Given the description of an element on the screen output the (x, y) to click on. 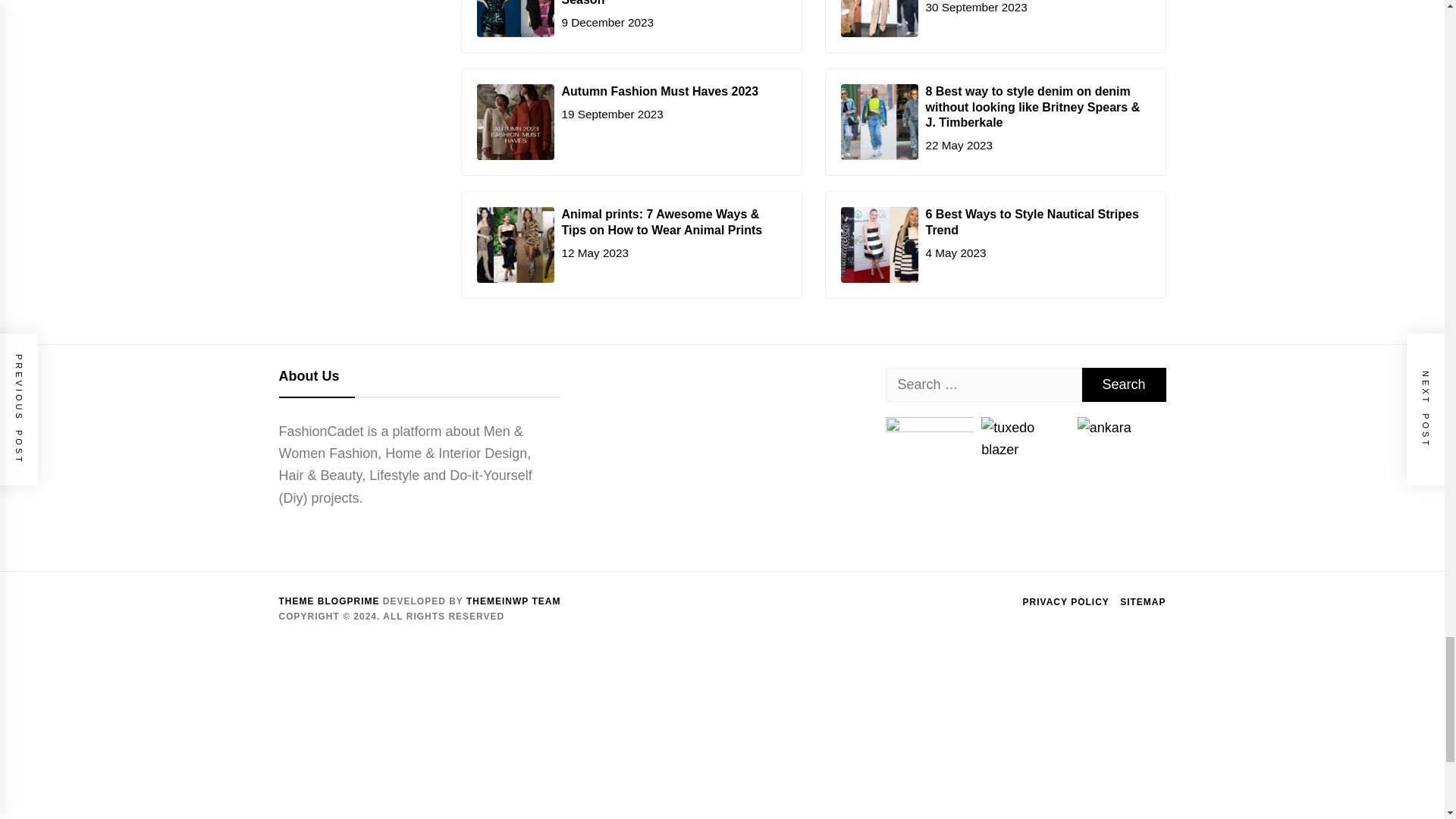
Search (1123, 384)
Search (1123, 384)
